Given the description of an element on the screen output the (x, y) to click on. 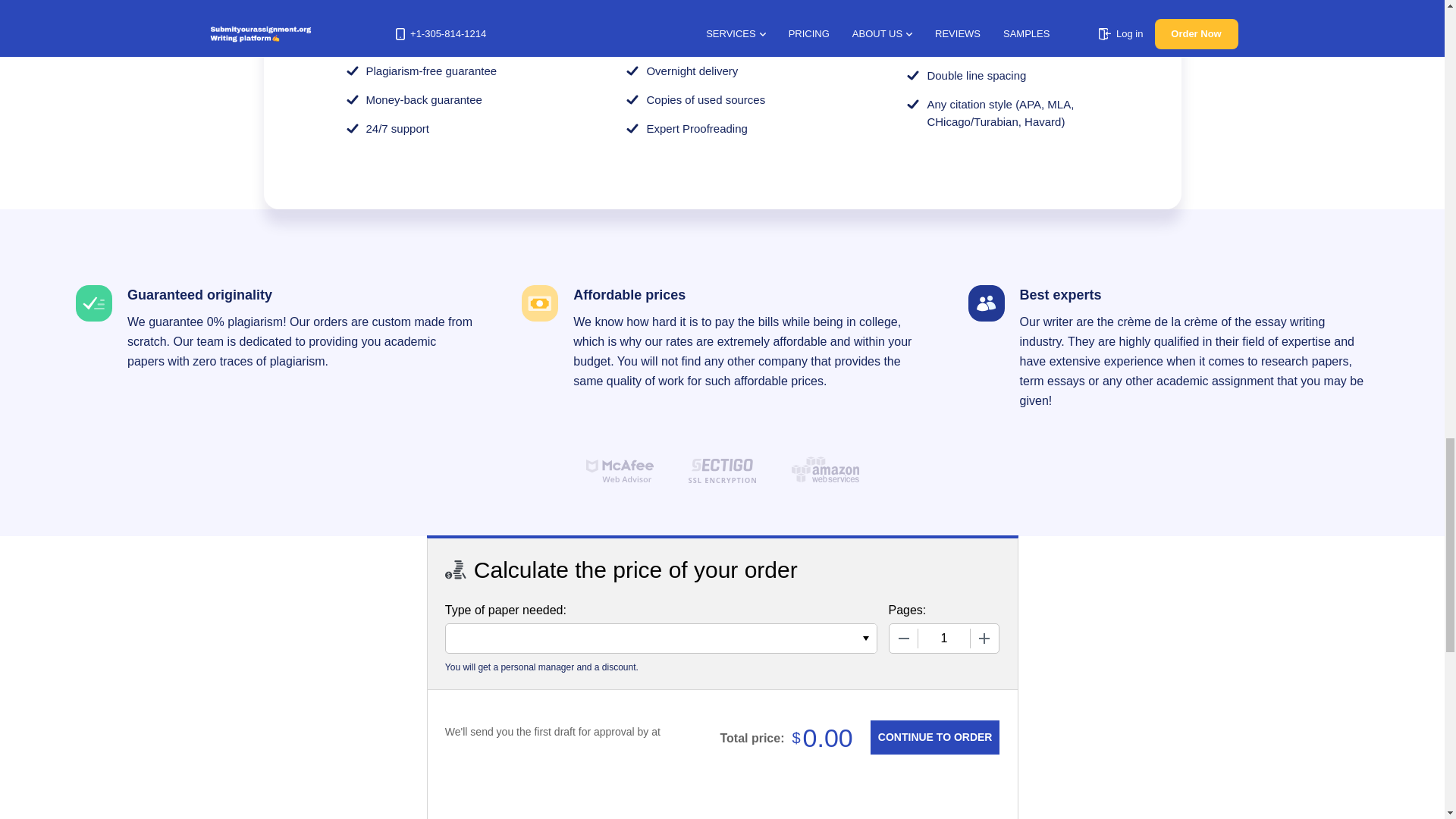
Continue to order (934, 737)
Increase (983, 638)
Continue to Order (934, 737)
Continue to order (934, 737)
1 (943, 638)
Decrease (902, 638)
